Given the description of an element on the screen output the (x, y) to click on. 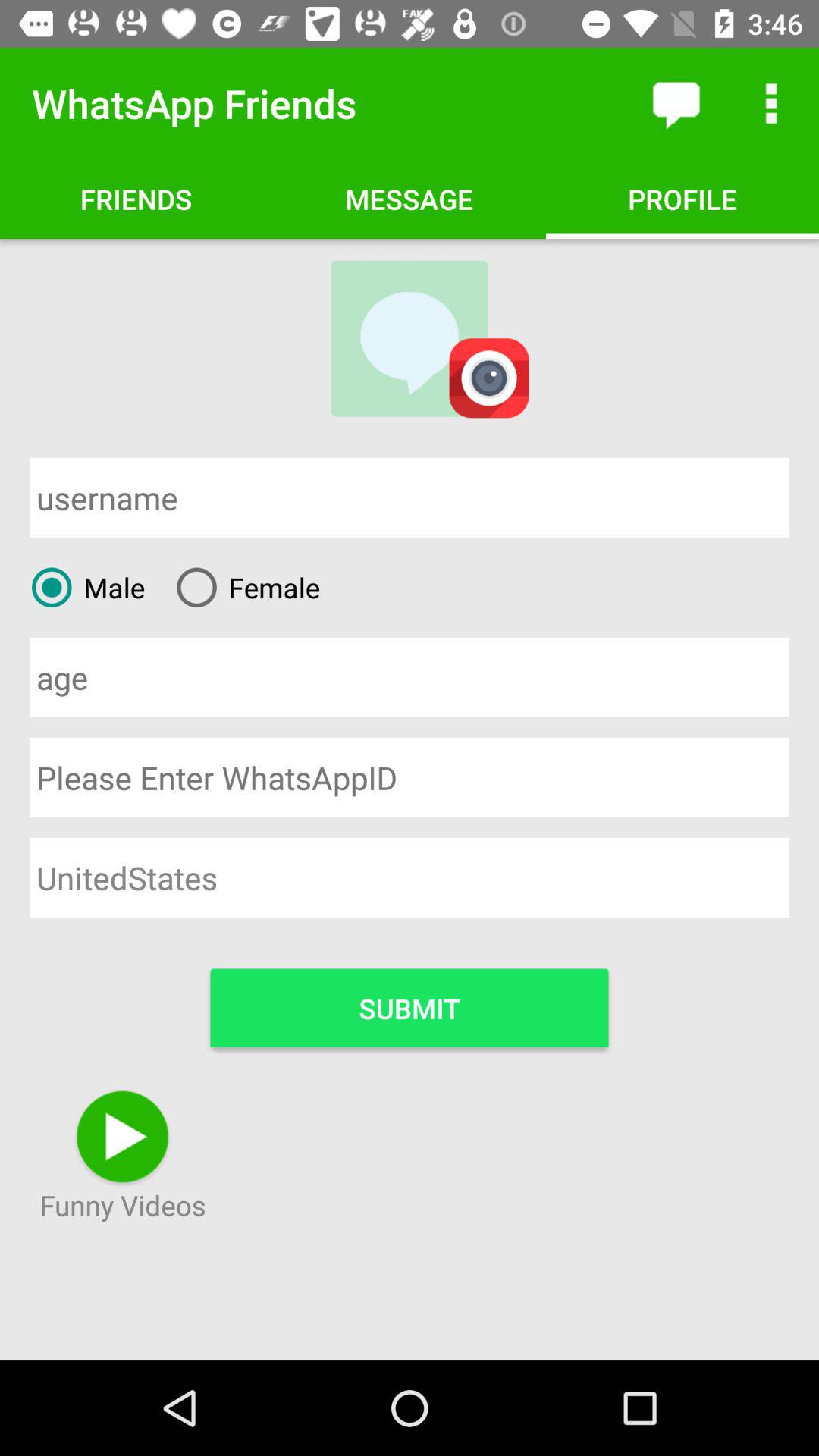
launch item next to whatsapp friends (675, 103)
